Given the description of an element on the screen output the (x, y) to click on. 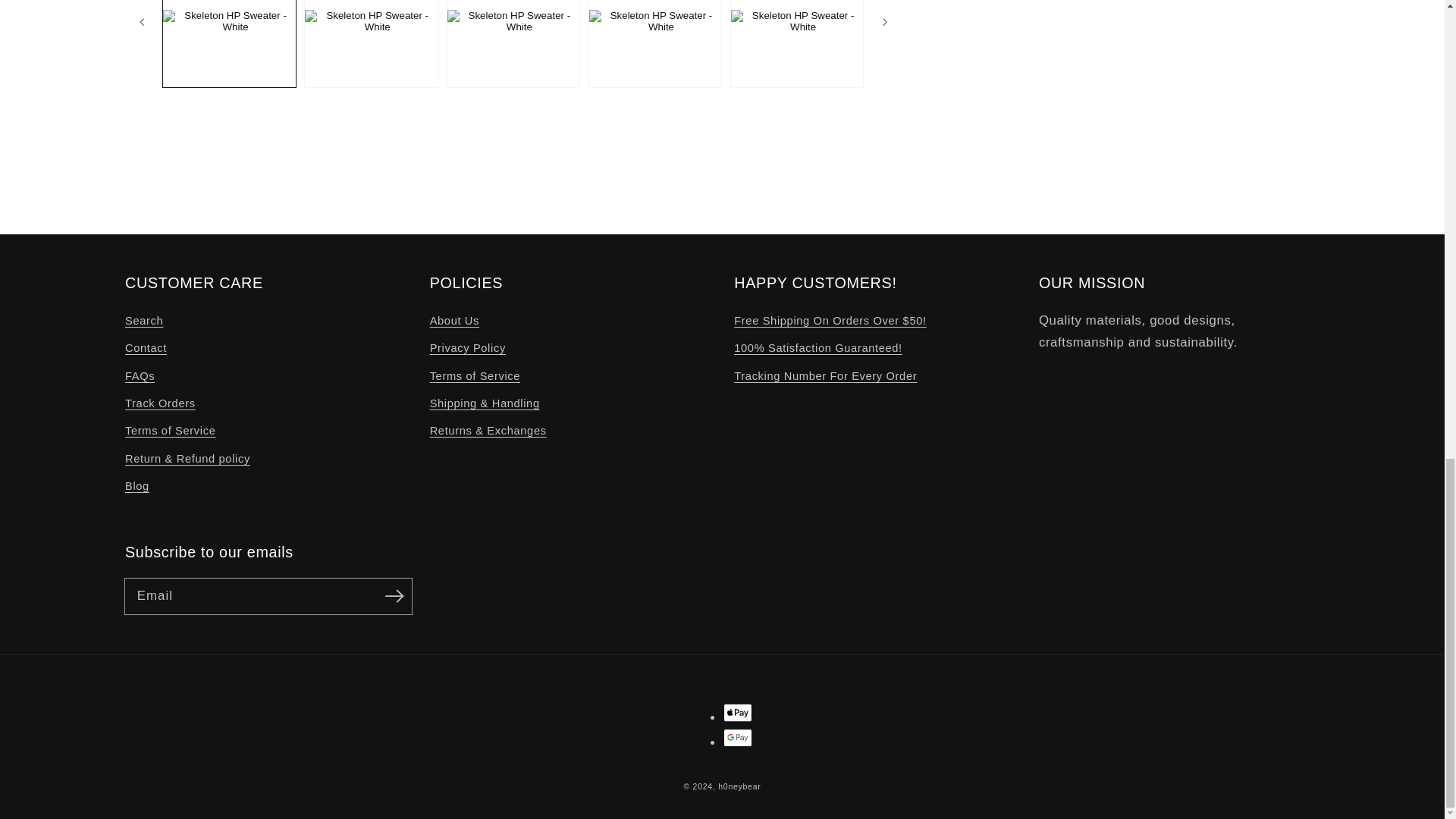
Apple Pay (737, 712)
Google Pay (737, 737)
